Given the description of an element on the screen output the (x, y) to click on. 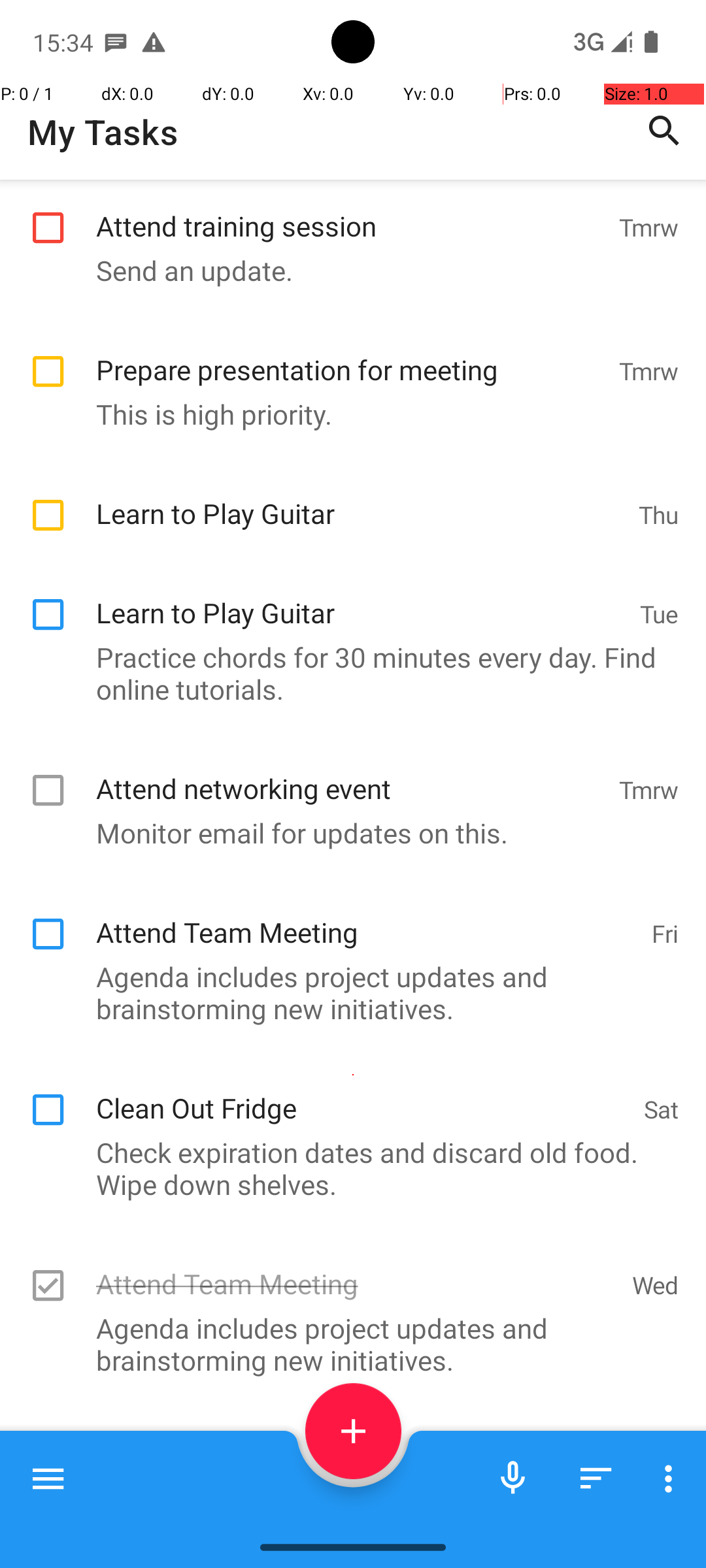
Attend training session Element type: android.widget.TextView (350, 211)
Send an update. Element type: android.widget.TextView (346, 269)
Prepare presentation for meeting Element type: android.widget.TextView (350, 355)
This is high priority. Element type: android.widget.TextView (346, 413)
Learn to Play Guitar Element type: android.widget.TextView (360, 499)
Practice chords for 30 minutes every day. Find online tutorials. Element type: android.widget.TextView (346, 672)
Attend networking event Element type: android.widget.TextView (350, 774)
Monitor email for updates on this. Element type: android.widget.TextView (346, 832)
Agenda includes project updates and brainstorming new initiatives. Element type: android.widget.TextView (346, 992)
Check expiration dates and discard old food. Wipe down shelves. Element type: android.widget.TextView (346, 1167)
Sat Element type: android.widget.TextView (661, 1108)
